Given the description of an element on the screen output the (x, y) to click on. 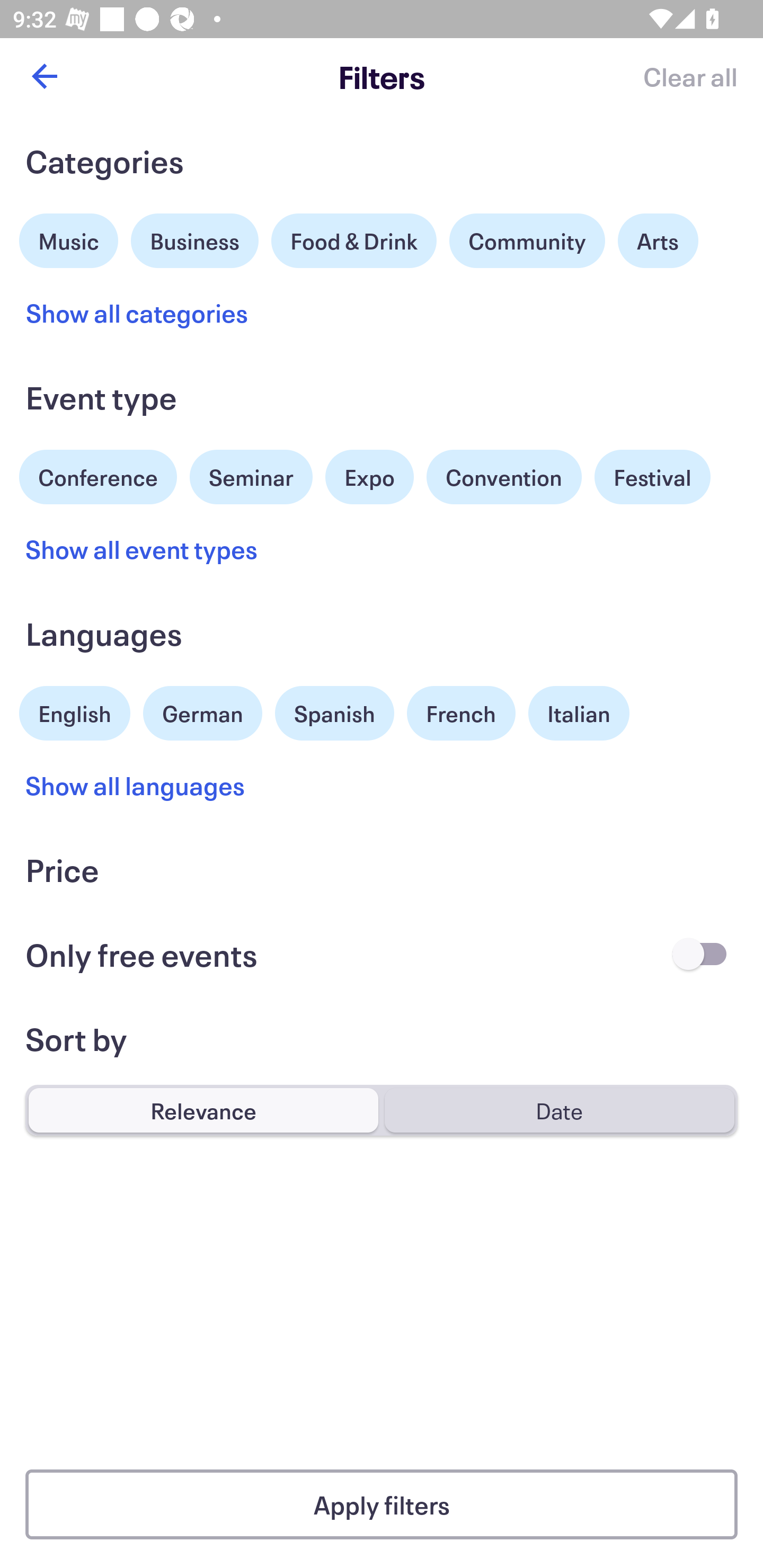
Back button (44, 75)
Clear all (690, 75)
Music (68, 238)
Business (194, 238)
Food & Drink (353, 240)
Community (527, 240)
Arts (658, 240)
Show all categories (136, 312)
Conference (98, 475)
Seminar (250, 477)
Expo (369, 477)
Convention (503, 477)
Festival (652, 477)
Show all event types (141, 548)
English (74, 710)
German (202, 710)
Spanish (334, 713)
French (460, 713)
Italian (578, 713)
Show all languages (135, 784)
Relevance (203, 1109)
Date (559, 1109)
Apply filters (381, 1504)
